Given the description of an element on the screen output the (x, y) to click on. 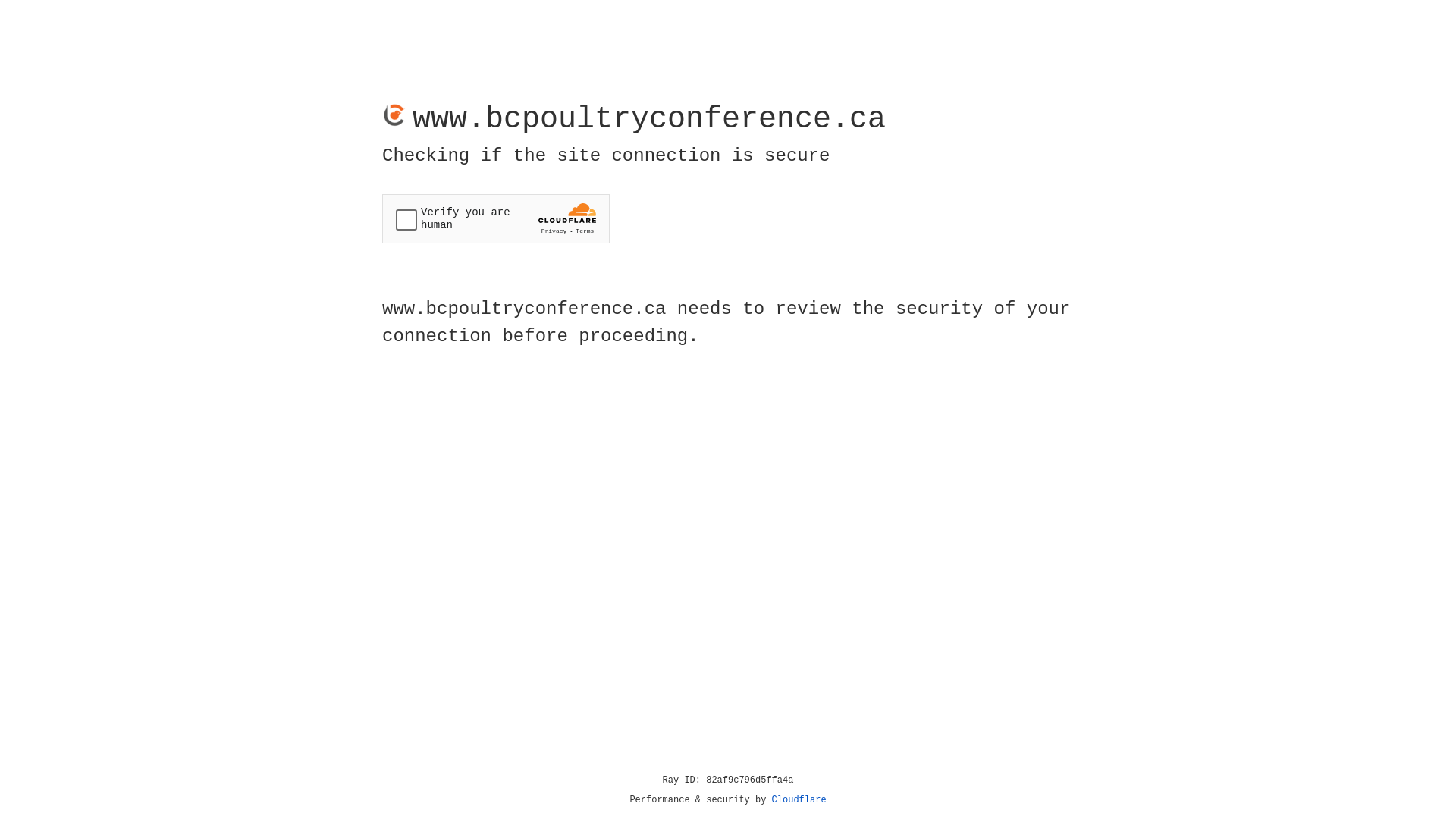
Cloudflare Element type: text (798, 799)
Widget containing a Cloudflare security challenge Element type: hover (495, 218)
